Given the description of an element on the screen output the (x, y) to click on. 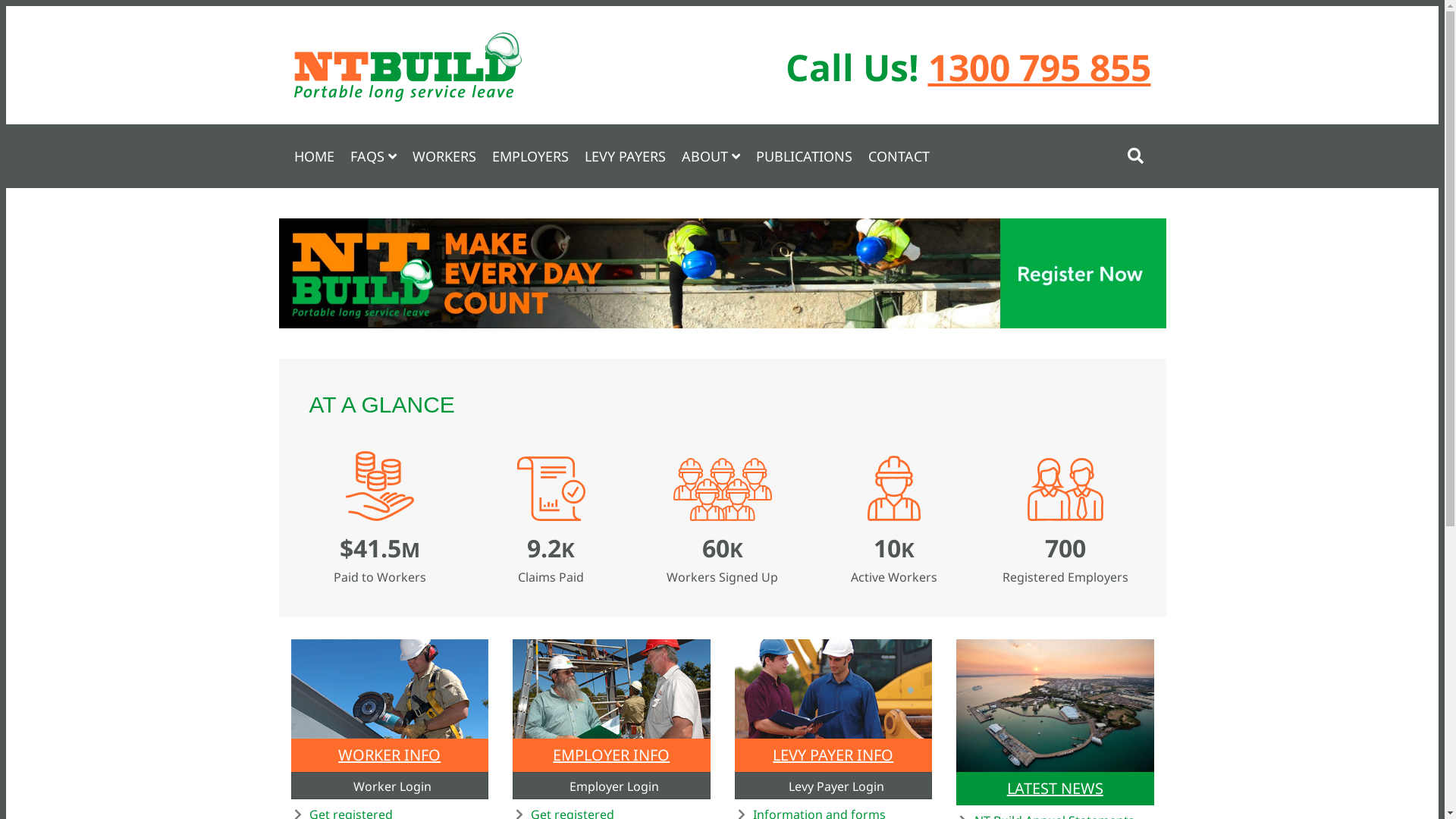
Worker Login Element type: text (390, 785)
Paid Element type: hover (379, 485)
PUBLICATIONS Element type: text (803, 155)
worker Element type: hover (390, 688)
Employer Login Element type: text (611, 785)
nt-build-banner-make-everyday-count Element type: hover (722, 273)
LEVY PAYERS Element type: text (624, 155)
1300 795 855 Element type: text (1039, 66)
EMPLOYER INFO Element type: text (611, 754)
Levy Payer Login Element type: text (832, 785)
FAQS Element type: text (373, 155)
EMPLOYERS Element type: text (529, 155)
Active-Workers Element type: hover (893, 487)
NT-Build-Logo Element type: hover (407, 66)
Claims Element type: hover (551, 488)
CONTACT Element type: text (897, 155)
Workers Element type: hover (722, 489)
HOME Element type: text (314, 155)
WORKER INFO Element type: text (390, 754)
levy-payer Element type: hover (832, 688)
LATEST NEWS Element type: text (1055, 788)
Employers Element type: hover (1064, 489)
LEVY PAYER INFO Element type: text (832, 754)
WORKERS Element type: text (443, 155)
ABOUT Element type: text (709, 155)
employer Element type: hover (611, 688)
Aerial Darwin 72_5437 Element type: hover (1055, 705)
